Given the description of an element on the screen output the (x, y) to click on. 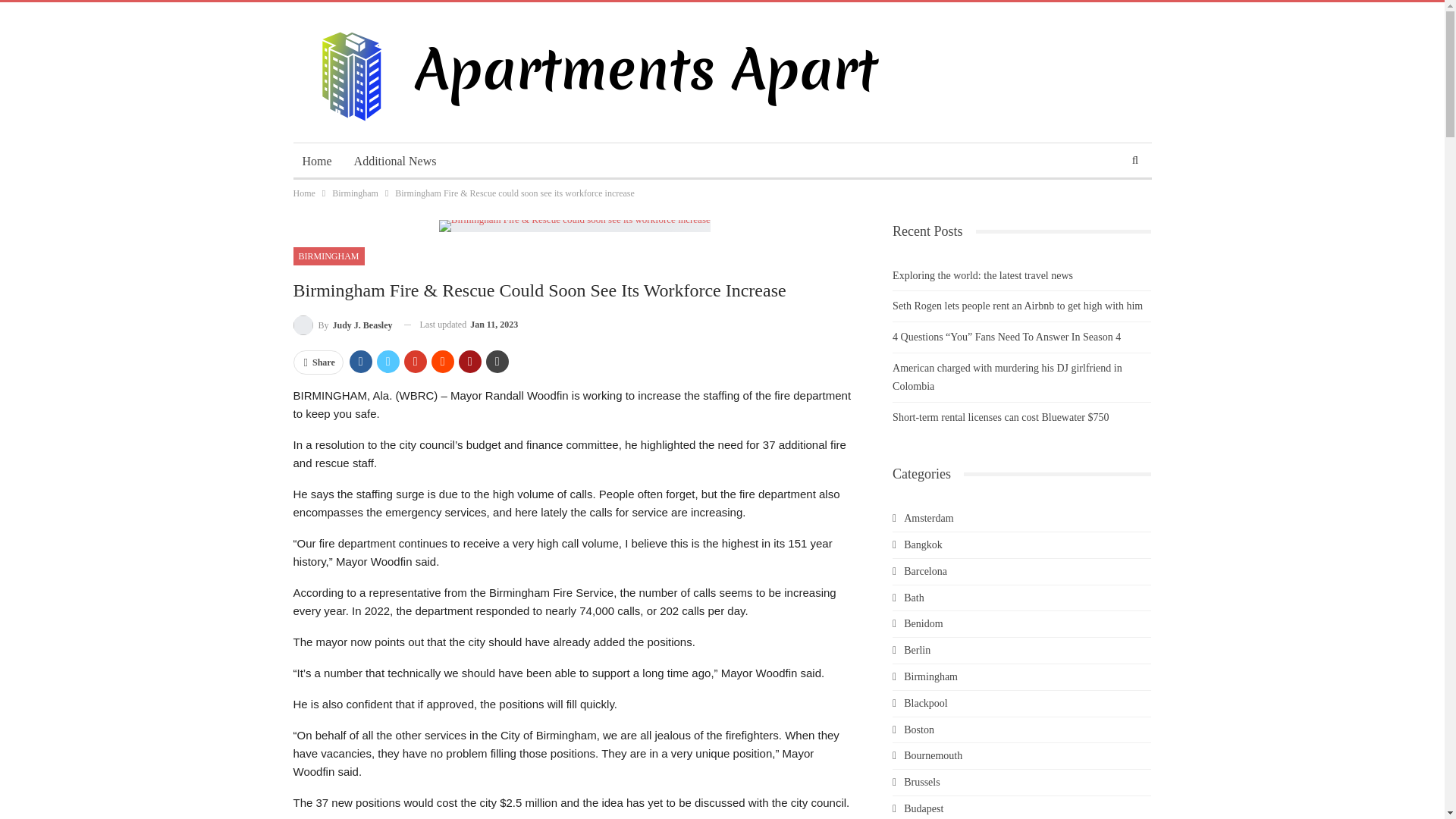
Birmingham (354, 193)
By Judy J. Beasley (341, 324)
BIRMINGHAM (328, 256)
Home (303, 193)
Home (316, 161)
Browse Author Articles (341, 324)
Additional News (395, 161)
